Given the description of an element on the screen output the (x, y) to click on. 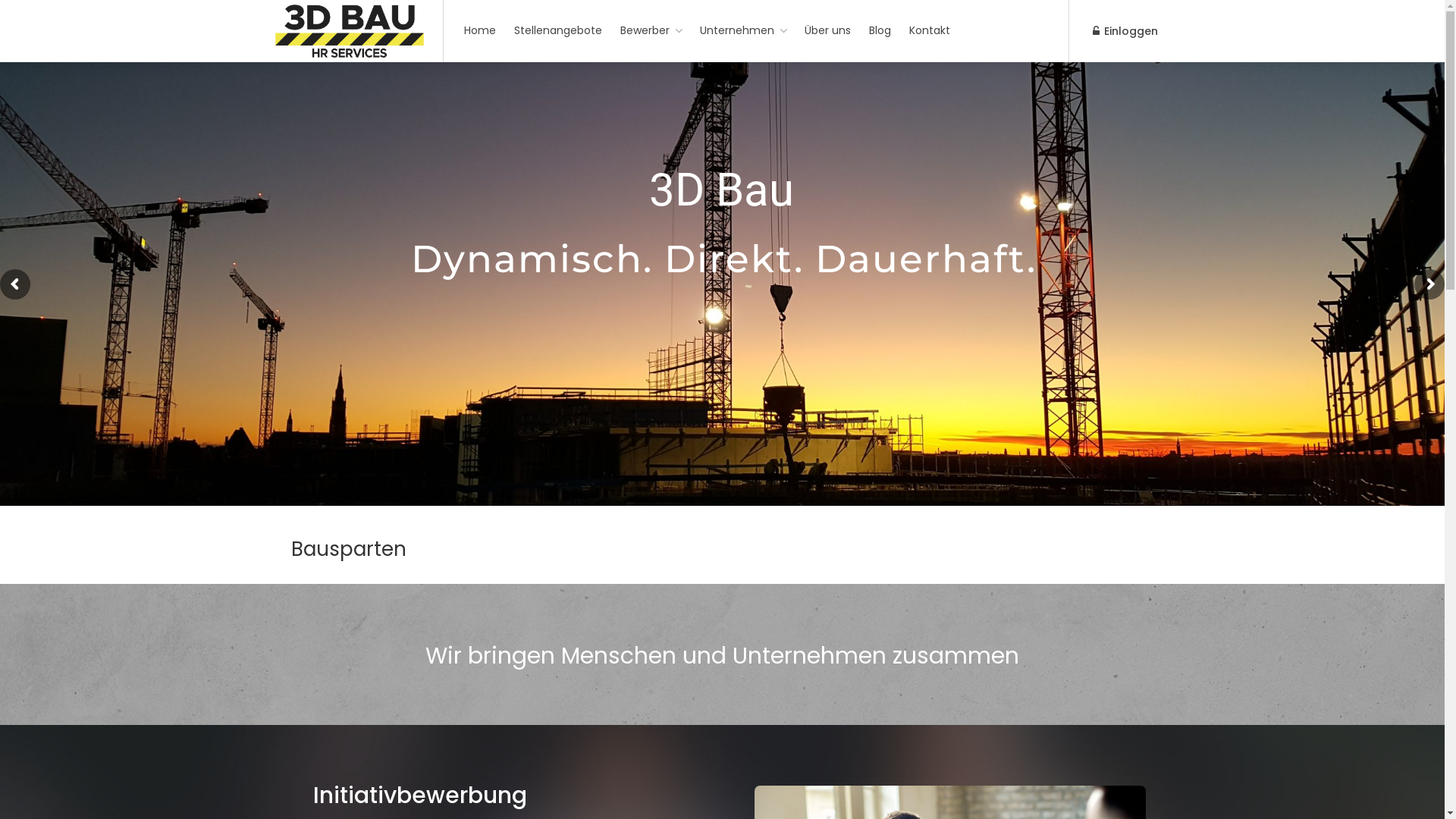
Einloggen Element type: text (1124, 31)
Bewerber Element type: text (650, 30)
3dbau.com Element type: hover (348, 48)
Stellenangebote Element type: text (557, 30)
Unternehmen Element type: text (742, 30)
Blog Element type: text (879, 30)
Home Element type: text (479, 30)
Wir bringen Menschen und Unternehmen zusammen Element type: text (722, 655)
Kontakt Element type: text (929, 30)
